Given the description of an element on the screen output the (x, y) to click on. 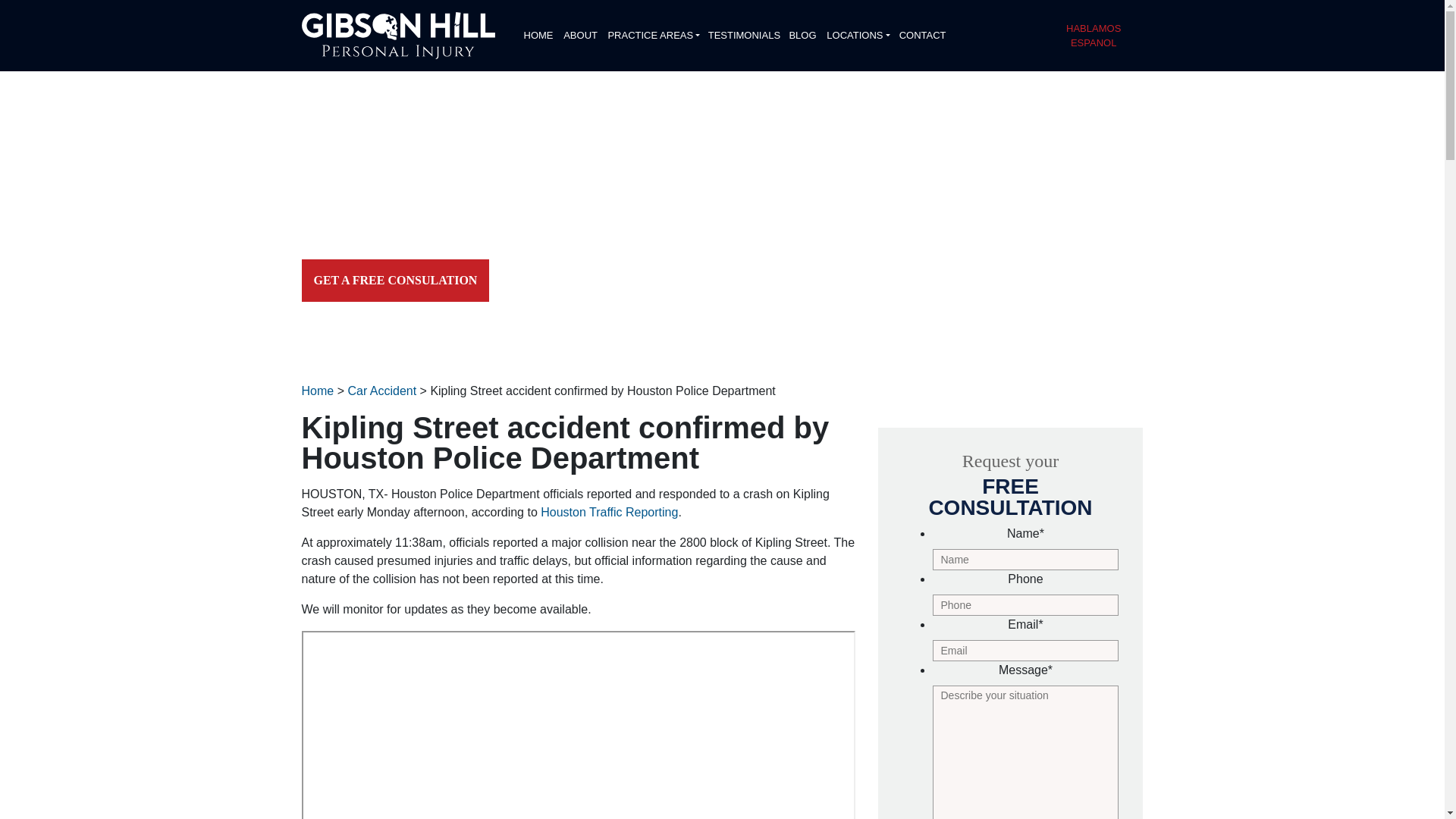
TESTIMONIALS (742, 35)
CONTACT (921, 35)
Car Accident (381, 390)
ABOUT (579, 35)
LOCATIONS (856, 35)
Home (317, 390)
Go to the Car Accident category archives. (381, 390)
Houston Traffic Reporting (609, 512)
Go to Gibson Hill Personal Injury. (317, 390)
BLOG (802, 35)
PRACTICE AREAS (651, 35)
HOME (536, 35)
GET A FREE CONSULATION (395, 280)
